Given the description of an element on the screen output the (x, y) to click on. 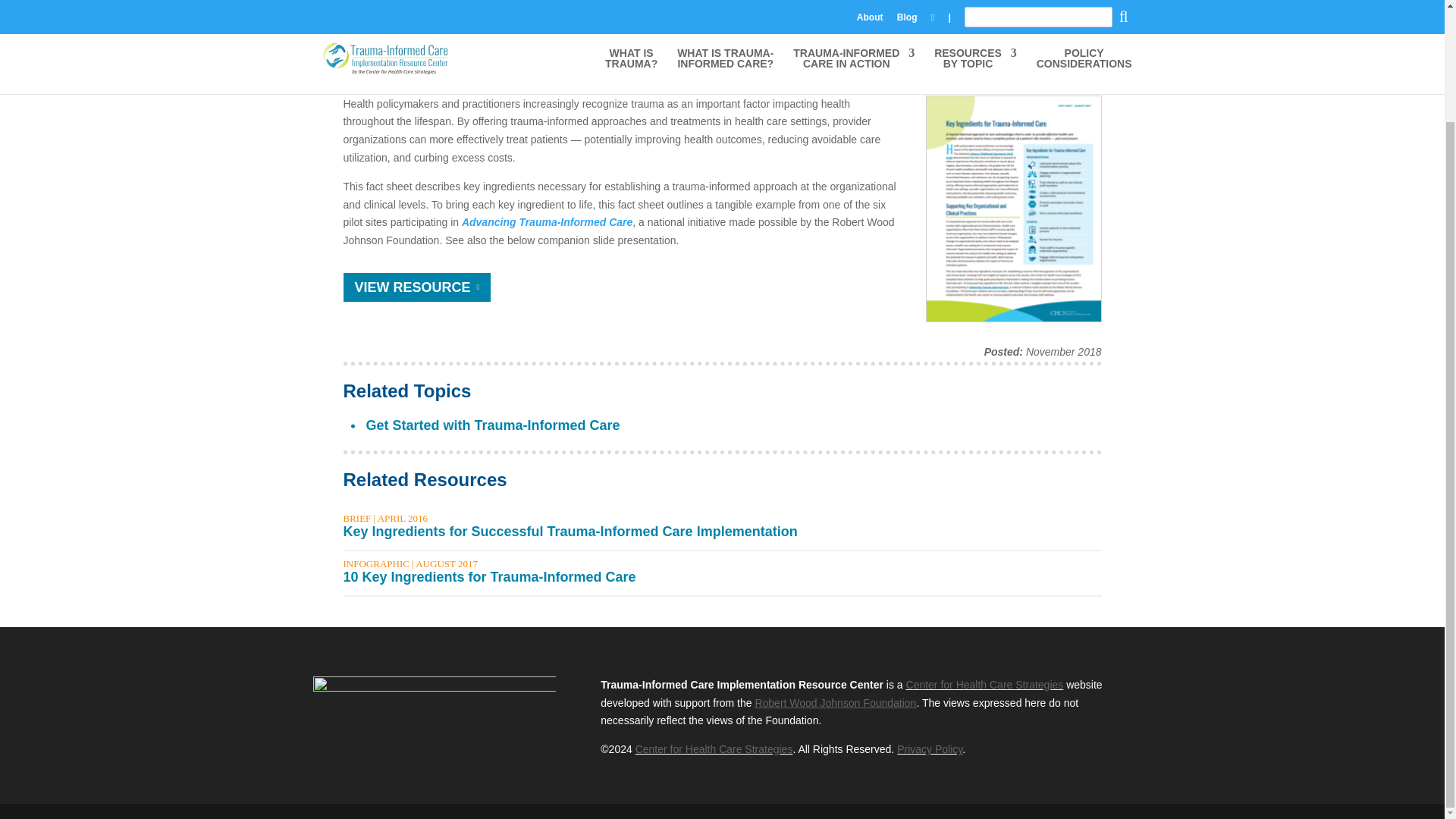
Center for Health Care Strategies (984, 684)
Center for Health Care Strategies (713, 748)
Privacy Policy (929, 748)
10 Key Ingredients for Trauma-Informed Care (488, 576)
Robert Wood Johnson Foundation (834, 702)
Advancing Trauma-Informed Care (546, 222)
Get Started with Trauma-Informed Care (492, 425)
VIEW RESOURCE (416, 287)
